Given the description of an element on the screen output the (x, y) to click on. 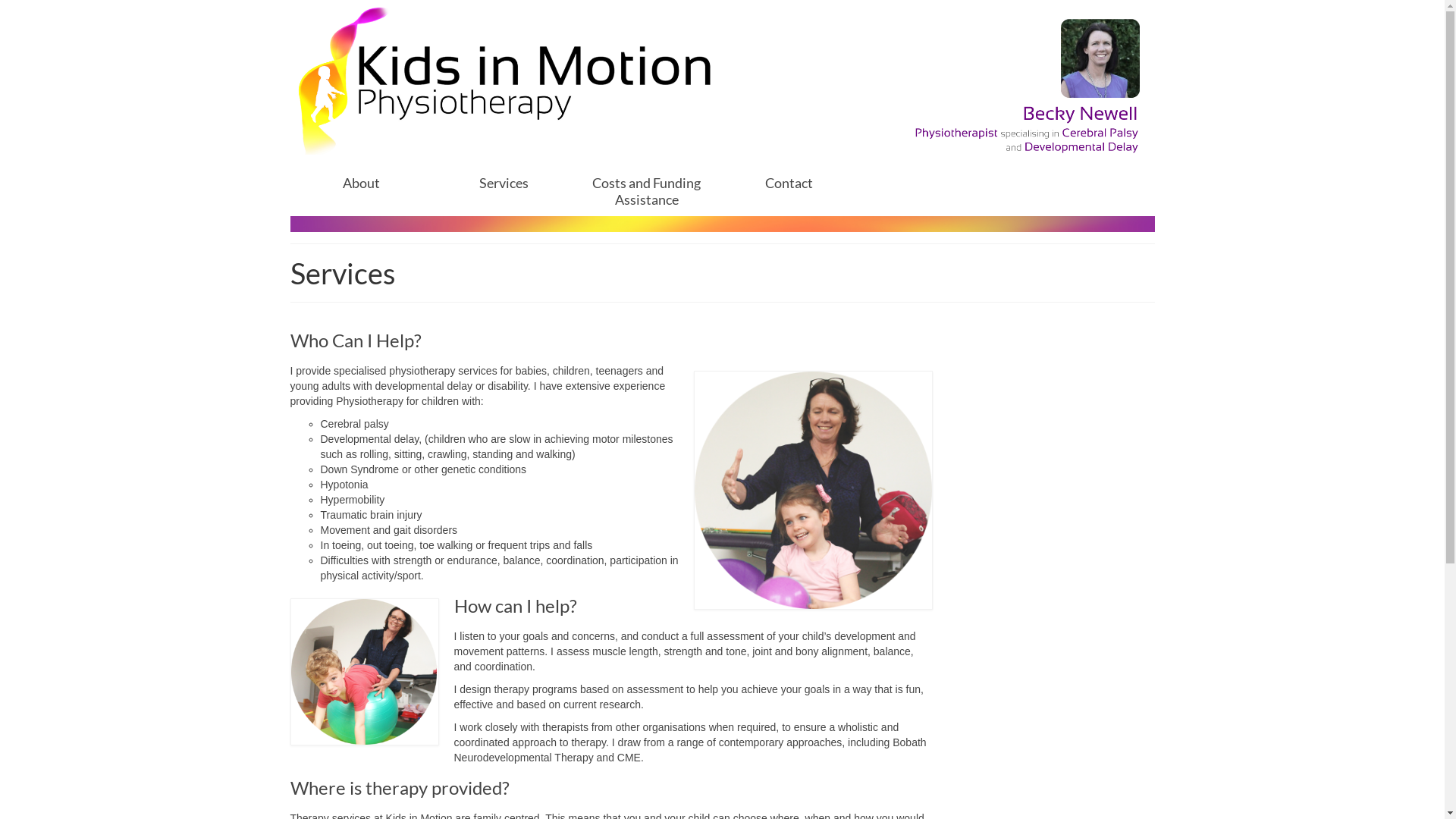
About Element type: text (360, 182)
Costs and Funding Assistance Element type: text (646, 190)
Contact Element type: text (789, 182)
Services Element type: text (504, 182)
